Given the description of an element on the screen output the (x, y) to click on. 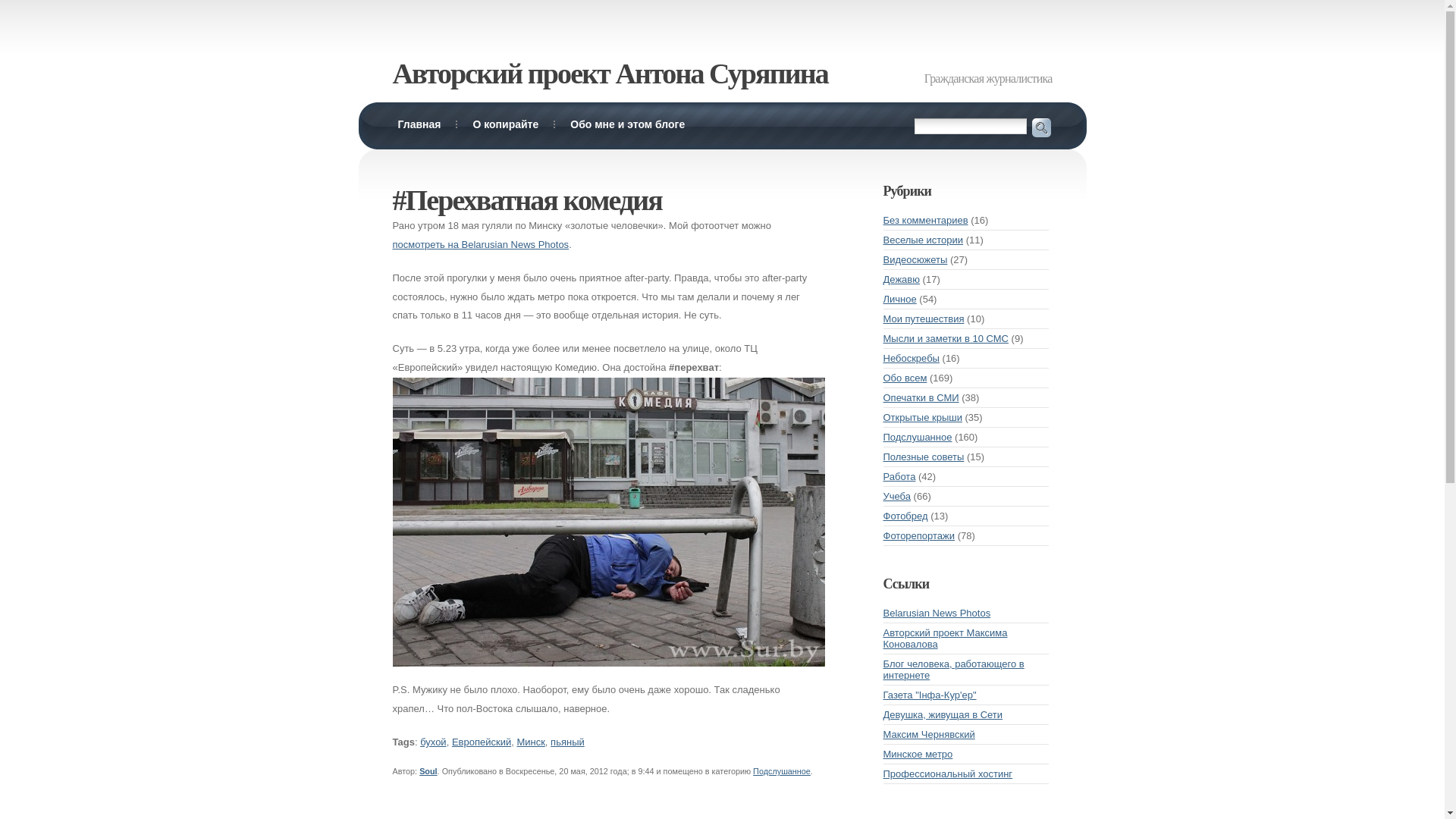
Belarusian News Photos Element type: text (936, 612)
IMG_8535 Element type: hover (608, 521)
Soul Element type: text (427, 770)
